Given the description of an element on the screen output the (x, y) to click on. 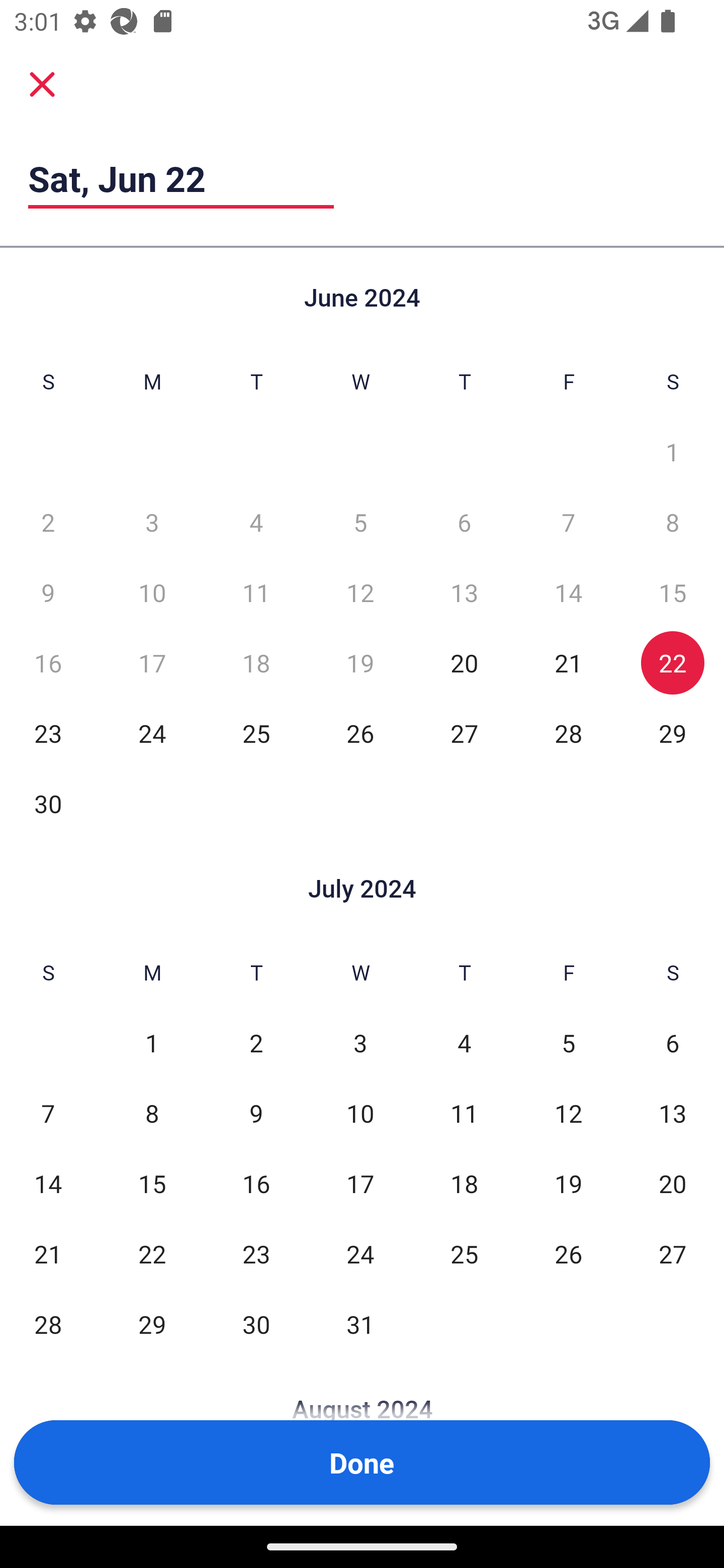
Cancel (41, 83)
Sat, Jun 22 (180, 178)
1 Sat, Jun 1, Not Selected (672, 452)
2 Sun, Jun 2, Not Selected (48, 521)
3 Mon, Jun 3, Not Selected (152, 521)
4 Tue, Jun 4, Not Selected (256, 521)
5 Wed, Jun 5, Not Selected (360, 521)
6 Thu, Jun 6, Not Selected (464, 521)
7 Fri, Jun 7, Not Selected (568, 521)
8 Sat, Jun 8, Not Selected (672, 521)
9 Sun, Jun 9, Not Selected (48, 591)
10 Mon, Jun 10, Not Selected (152, 591)
11 Tue, Jun 11, Not Selected (256, 591)
12 Wed, Jun 12, Not Selected (360, 591)
13 Thu, Jun 13, Not Selected (464, 591)
14 Fri, Jun 14, Not Selected (568, 591)
15 Sat, Jun 15, Not Selected (672, 591)
16 Sun, Jun 16, Not Selected (48, 662)
17 Mon, Jun 17, Not Selected (152, 662)
18 Tue, Jun 18, Not Selected (256, 662)
19 Wed, Jun 19, Not Selected (360, 662)
20 Thu, Jun 20, Not Selected (464, 662)
21 Fri, Jun 21, Not Selected (568, 662)
22 Sat, Jun 22, Selected (672, 662)
23 Sun, Jun 23, Not Selected (48, 732)
24 Mon, Jun 24, Not Selected (152, 732)
25 Tue, Jun 25, Not Selected (256, 732)
26 Wed, Jun 26, Not Selected (360, 732)
27 Thu, Jun 27, Not Selected (464, 732)
28 Fri, Jun 28, Not Selected (568, 732)
29 Sat, Jun 29, Not Selected (672, 732)
30 Sun, Jun 30, Not Selected (48, 803)
1 Mon, Jul 1, Not Selected (152, 1043)
2 Tue, Jul 2, Not Selected (256, 1043)
3 Wed, Jul 3, Not Selected (360, 1043)
4 Thu, Jul 4, Not Selected (464, 1043)
5 Fri, Jul 5, Not Selected (568, 1043)
6 Sat, Jul 6, Not Selected (672, 1043)
7 Sun, Jul 7, Not Selected (48, 1112)
8 Mon, Jul 8, Not Selected (152, 1112)
9 Tue, Jul 9, Not Selected (256, 1112)
10 Wed, Jul 10, Not Selected (360, 1112)
11 Thu, Jul 11, Not Selected (464, 1112)
12 Fri, Jul 12, Not Selected (568, 1112)
13 Sat, Jul 13, Not Selected (672, 1112)
14 Sun, Jul 14, Not Selected (48, 1182)
15 Mon, Jul 15, Not Selected (152, 1182)
16 Tue, Jul 16, Not Selected (256, 1182)
17 Wed, Jul 17, Not Selected (360, 1182)
18 Thu, Jul 18, Not Selected (464, 1182)
19 Fri, Jul 19, Not Selected (568, 1182)
20 Sat, Jul 20, Not Selected (672, 1182)
21 Sun, Jul 21, Not Selected (48, 1253)
22 Mon, Jul 22, Not Selected (152, 1253)
23 Tue, Jul 23, Not Selected (256, 1253)
24 Wed, Jul 24, Not Selected (360, 1253)
25 Thu, Jul 25, Not Selected (464, 1253)
26 Fri, Jul 26, Not Selected (568, 1253)
27 Sat, Jul 27, Not Selected (672, 1253)
28 Sun, Jul 28, Not Selected (48, 1323)
29 Mon, Jul 29, Not Selected (152, 1323)
30 Tue, Jul 30, Not Selected (256, 1323)
31 Wed, Jul 31, Not Selected (360, 1323)
Done Button Done (361, 1462)
